Given the description of an element on the screen output the (x, y) to click on. 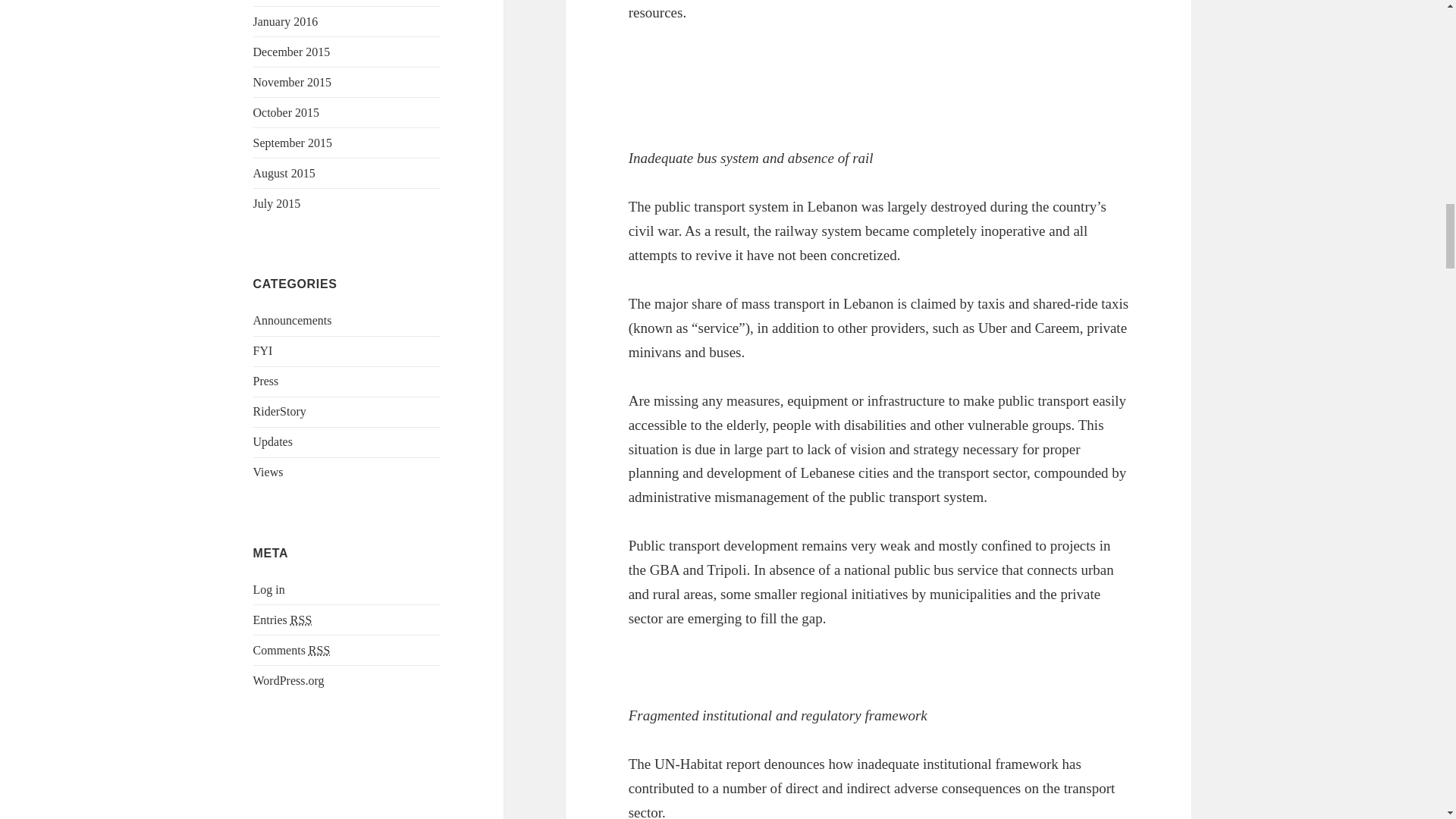
Really Simple Syndication (300, 620)
Really Simple Syndication (319, 650)
